Given the description of an element on the screen output the (x, y) to click on. 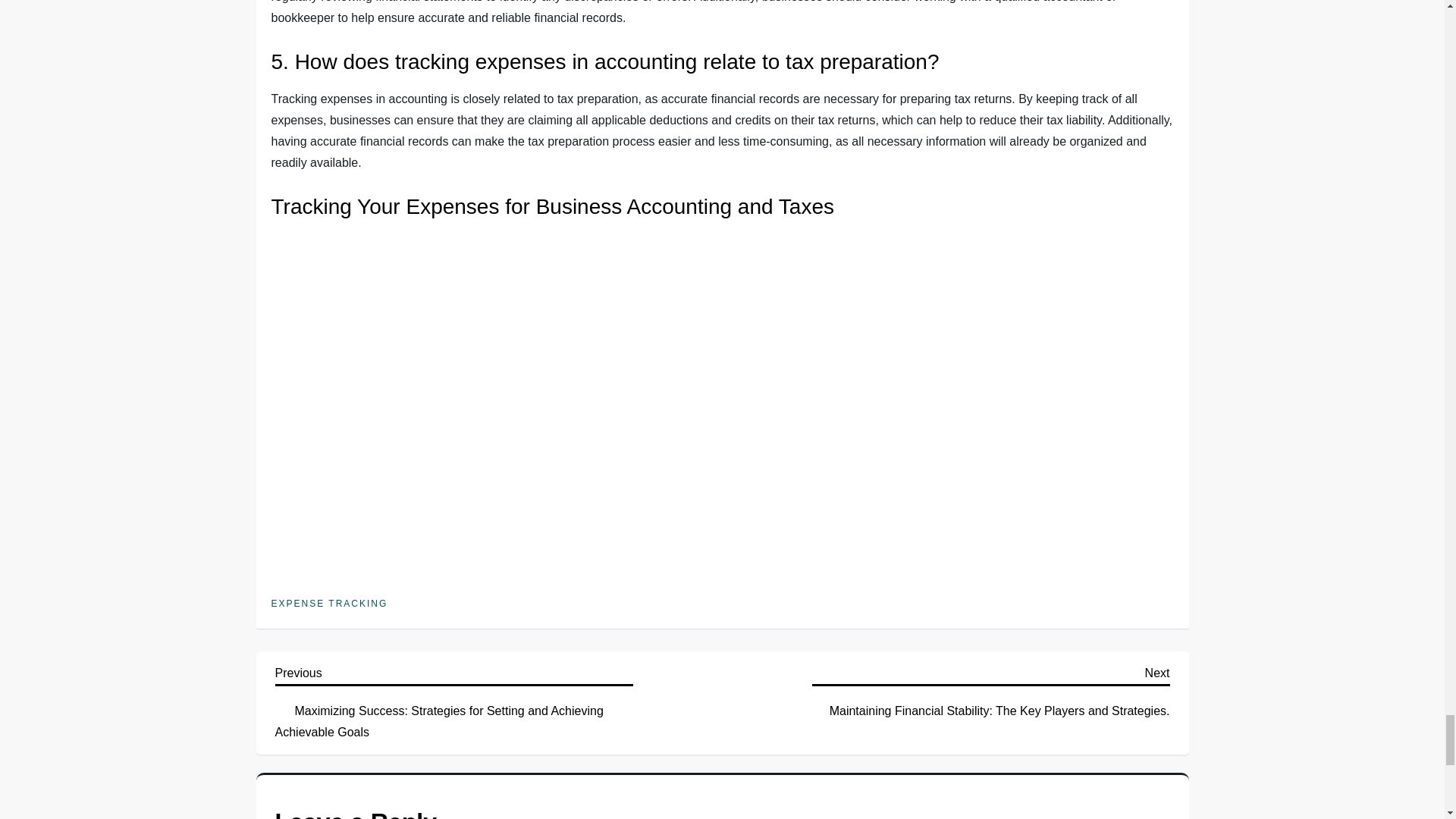
EXPENSE TRACKING (329, 604)
